Given the description of an element on the screen output the (x, y) to click on. 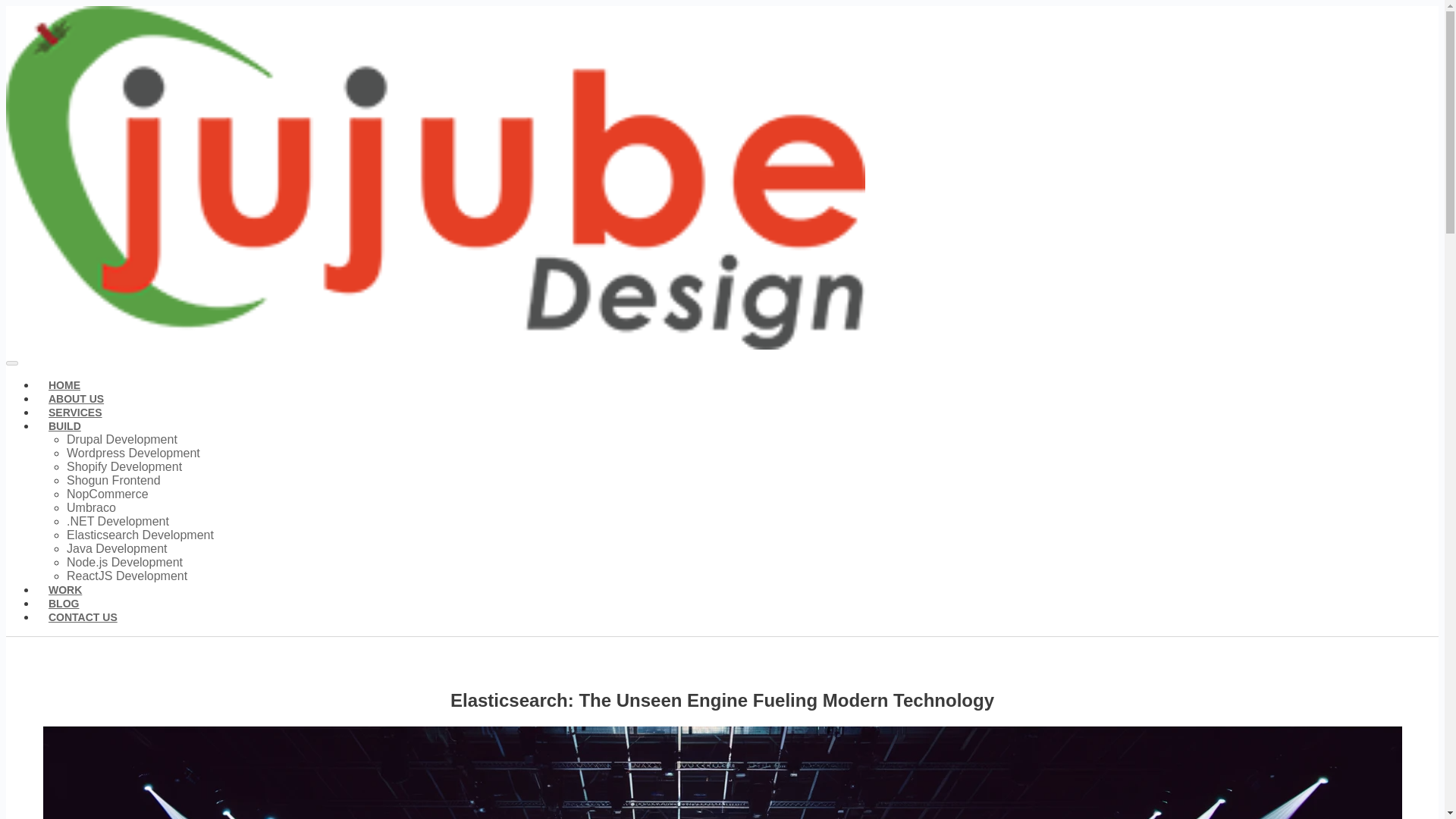
SERVICES (75, 412)
.NET Development (117, 521)
HOME (64, 385)
Home (434, 345)
Shogun Frontend (113, 480)
Elasticsearch Development (140, 534)
BUILD (64, 426)
NopCommerce (107, 493)
Umbraco (91, 507)
Skip to main content (722, 7)
Wordpress Development (133, 452)
Shopify Development (124, 466)
ReactJS Development (126, 575)
CONTACT US (82, 617)
WORK (65, 589)
